Given the description of an element on the screen output the (x, y) to click on. 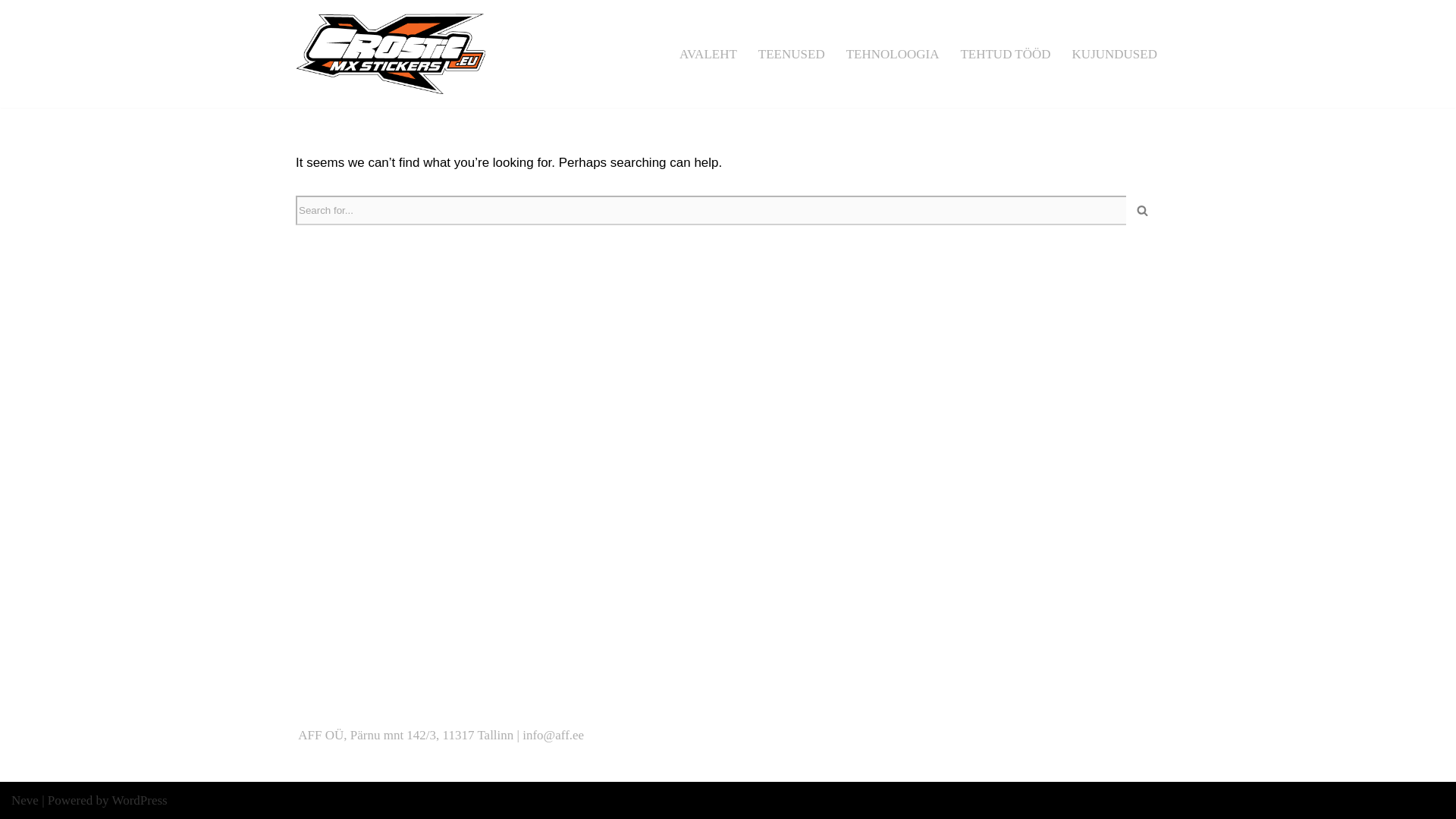
KUJUNDUSED (1114, 53)
TEHNOLOOGIA (892, 53)
WordPress (139, 800)
AVALEHT (707, 53)
TEENUSED (791, 53)
Skip to content (11, 31)
Neve (25, 800)
